Given the description of an element on the screen output the (x, y) to click on. 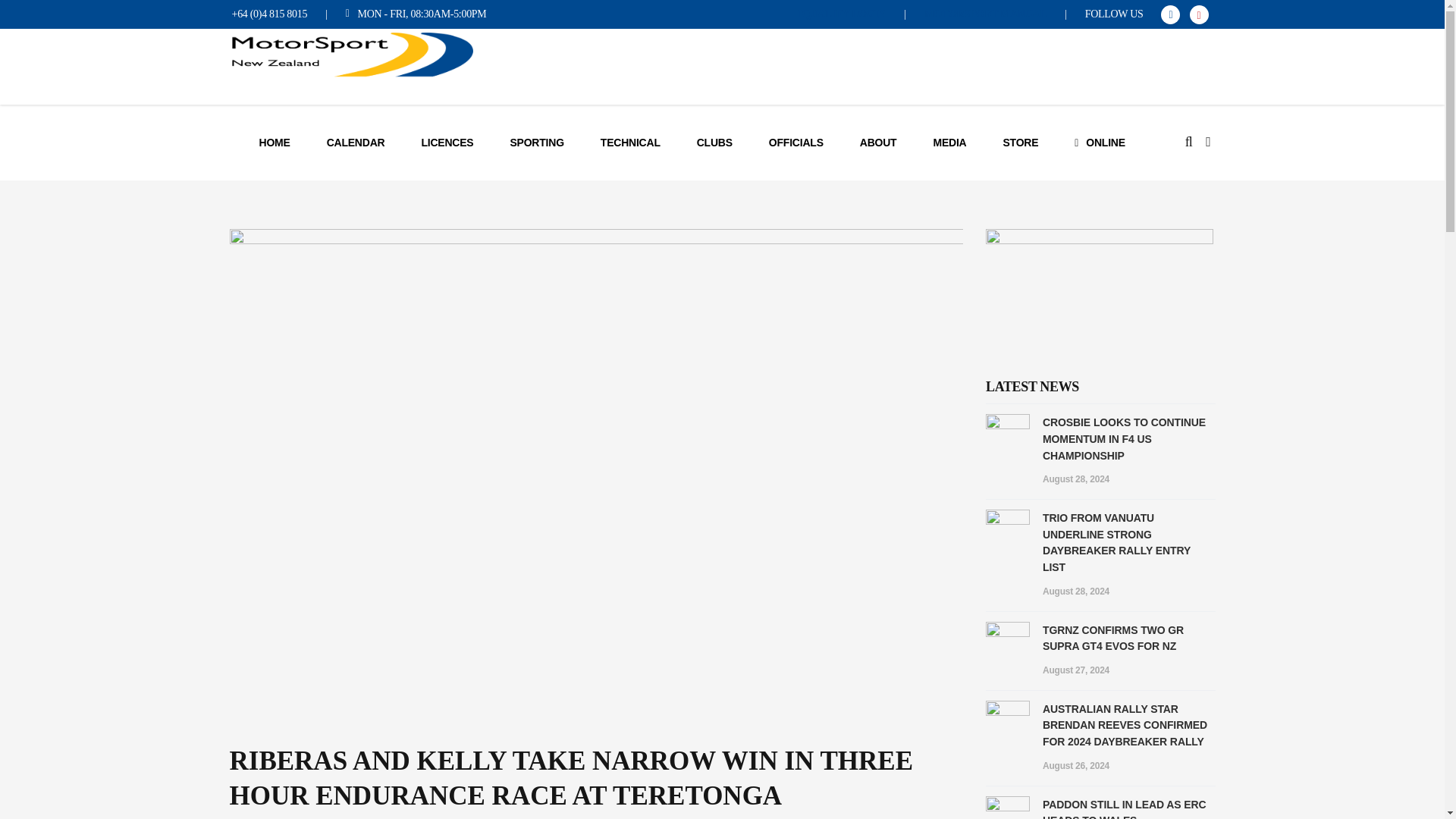
MOTORSPORT MANUAL (985, 13)
LICENCES (447, 142)
CALENDAR (355, 142)
IQUALIFY LOGIN (841, 13)
TECHNICAL (630, 142)
HOME (274, 142)
SPORTING (536, 142)
